Given the description of an element on the screen output the (x, y) to click on. 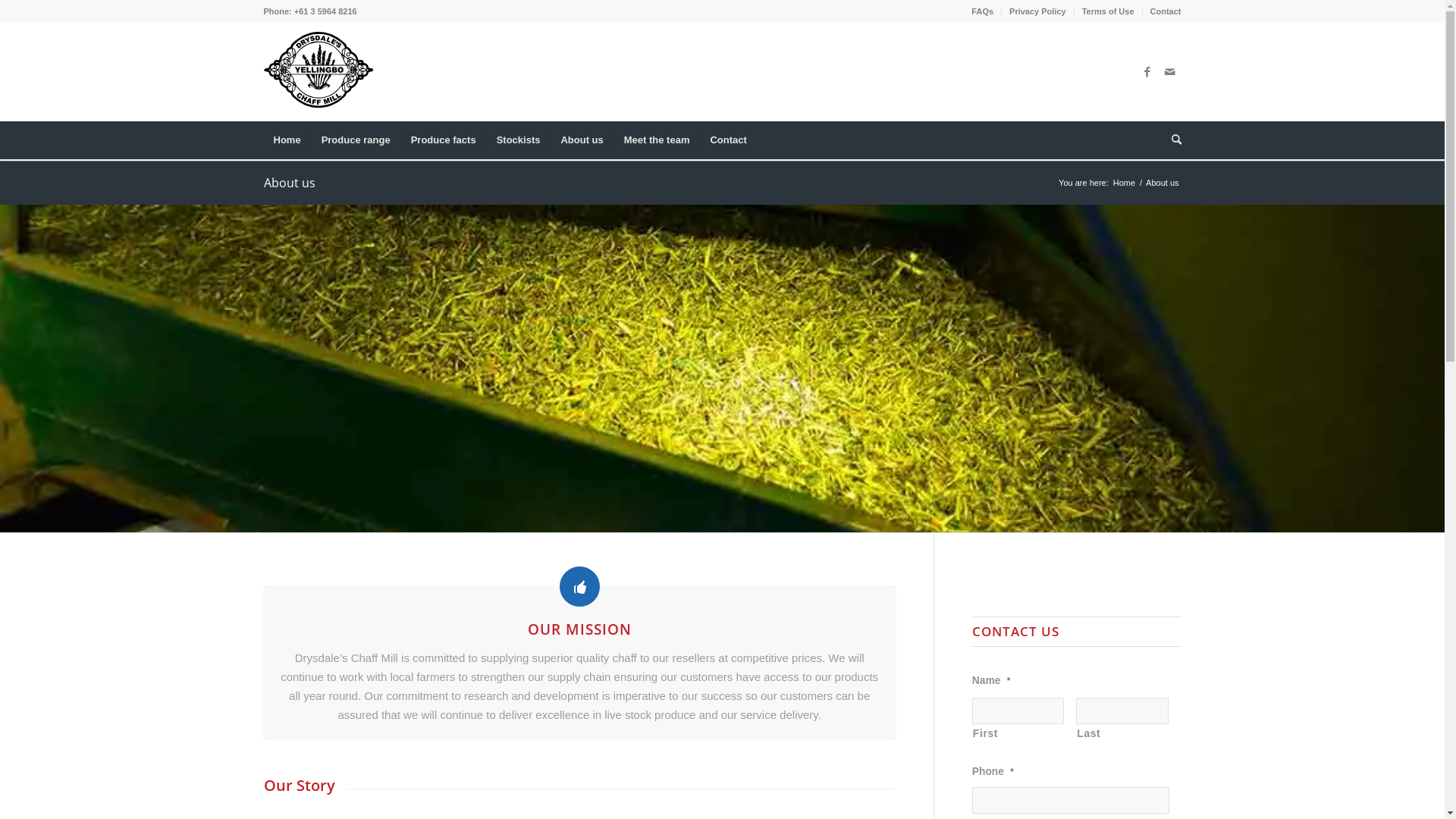
Privacy Policy Element type: text (1037, 11)
DCM-logo-for-website Element type: hover (318, 69)
About us Element type: text (580, 140)
Home Element type: text (286, 140)
Mail Element type: hover (1169, 71)
Contact Element type: text (727, 140)
Produce facts Element type: text (443, 140)
DCM-logo-for-website Element type: hover (318, 71)
Produce range Element type: text (355, 140)
Contact Element type: text (1165, 11)
About us Element type: text (289, 182)
FAQs Element type: text (982, 11)
Stockists Element type: text (518, 140)
Home Element type: text (1123, 182)
Facebook Element type: hover (1146, 71)
DCM-about-page-header Element type: hover (722, 368)
Terms of Use Element type: text (1108, 11)
Meet the team Element type: text (656, 140)
